Given the description of an element on the screen output the (x, y) to click on. 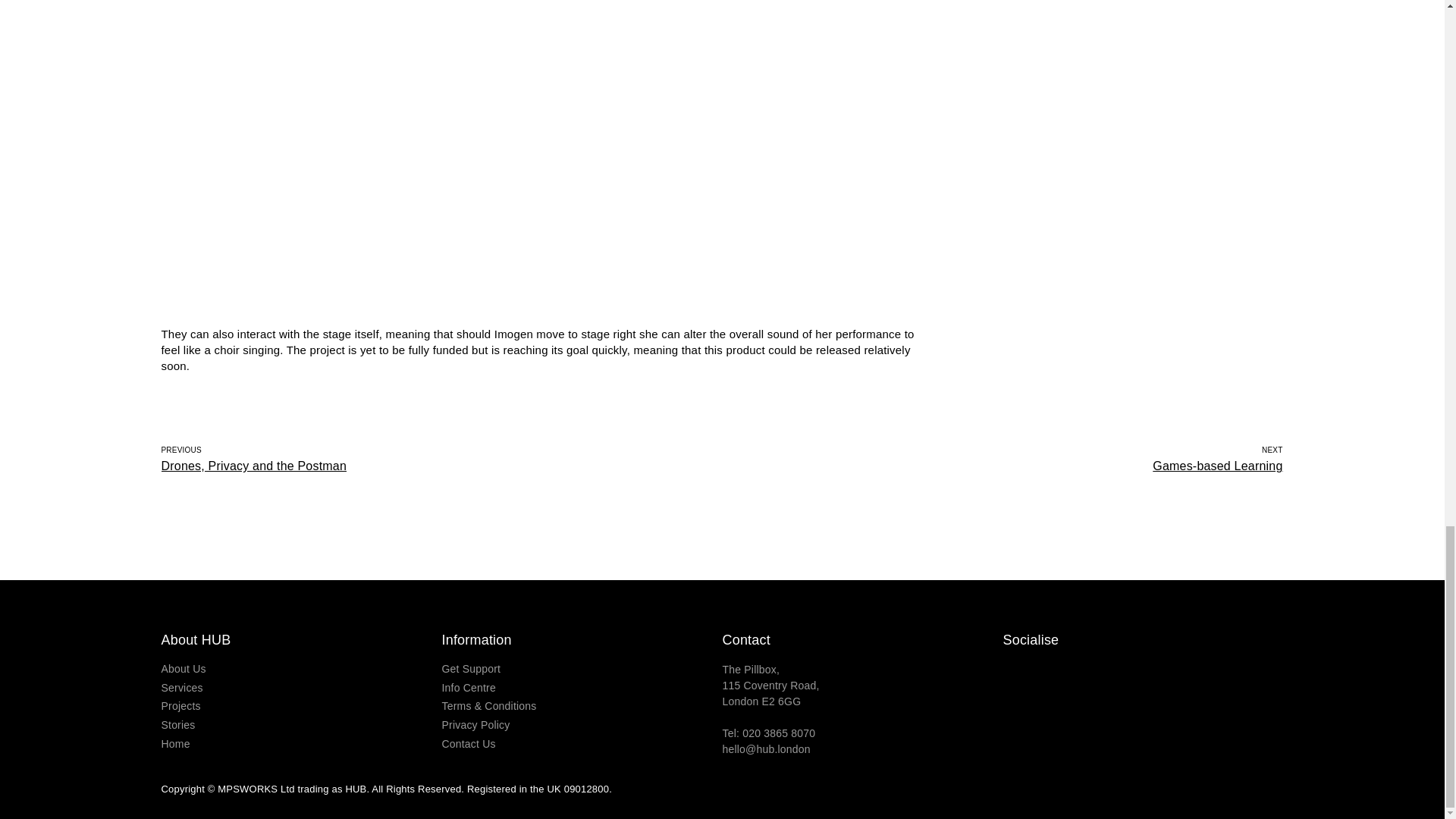
Services (441, 458)
About Us (300, 688)
Home (300, 669)
Projects (300, 743)
Privacy Policy (300, 706)
Info Centre (581, 725)
Contact Us (581, 688)
Stories (581, 743)
